Given the description of an element on the screen output the (x, y) to click on. 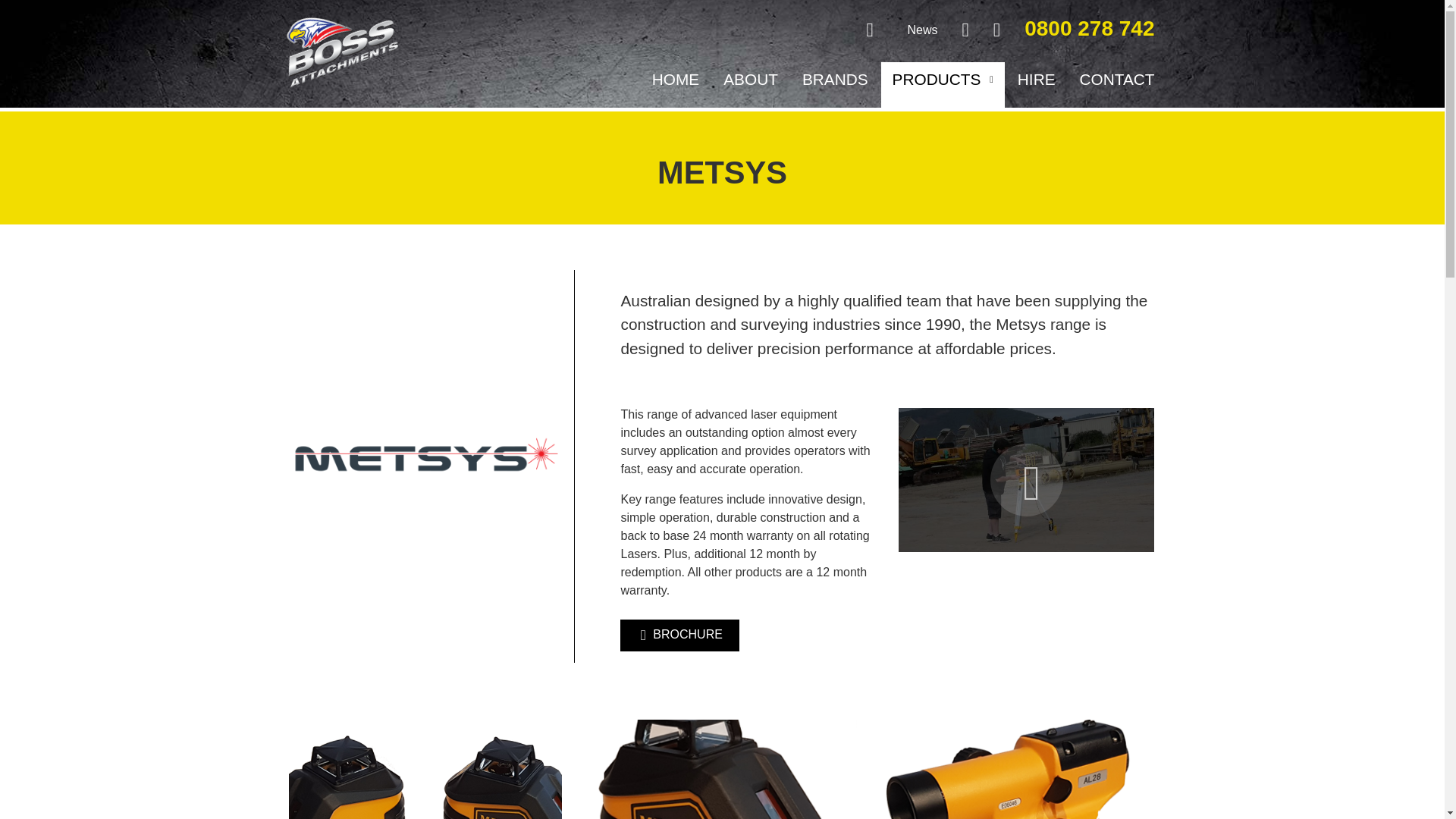
0800 278 742 (1089, 31)
PRODUCTS (942, 84)
CONTACT (1117, 84)
ABOUT (750, 84)
HOME (675, 84)
HIRE (1036, 84)
BRANDS (834, 84)
